Given the description of an element on the screen output the (x, y) to click on. 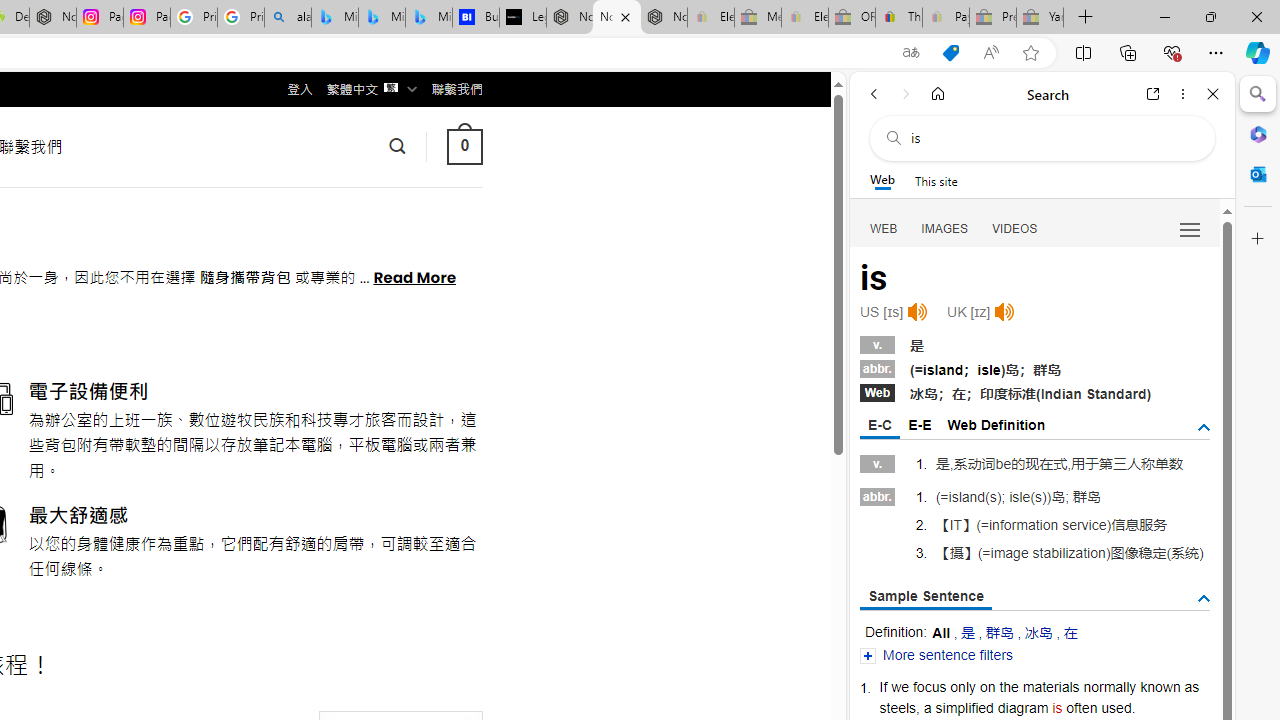
the (1008, 686)
AutomationID: tgdef_sen (1203, 598)
Press Room - eBay Inc. - Sleeping (993, 17)
. (1133, 707)
WEB (884, 228)
